Given the description of an element on the screen output the (x, y) to click on. 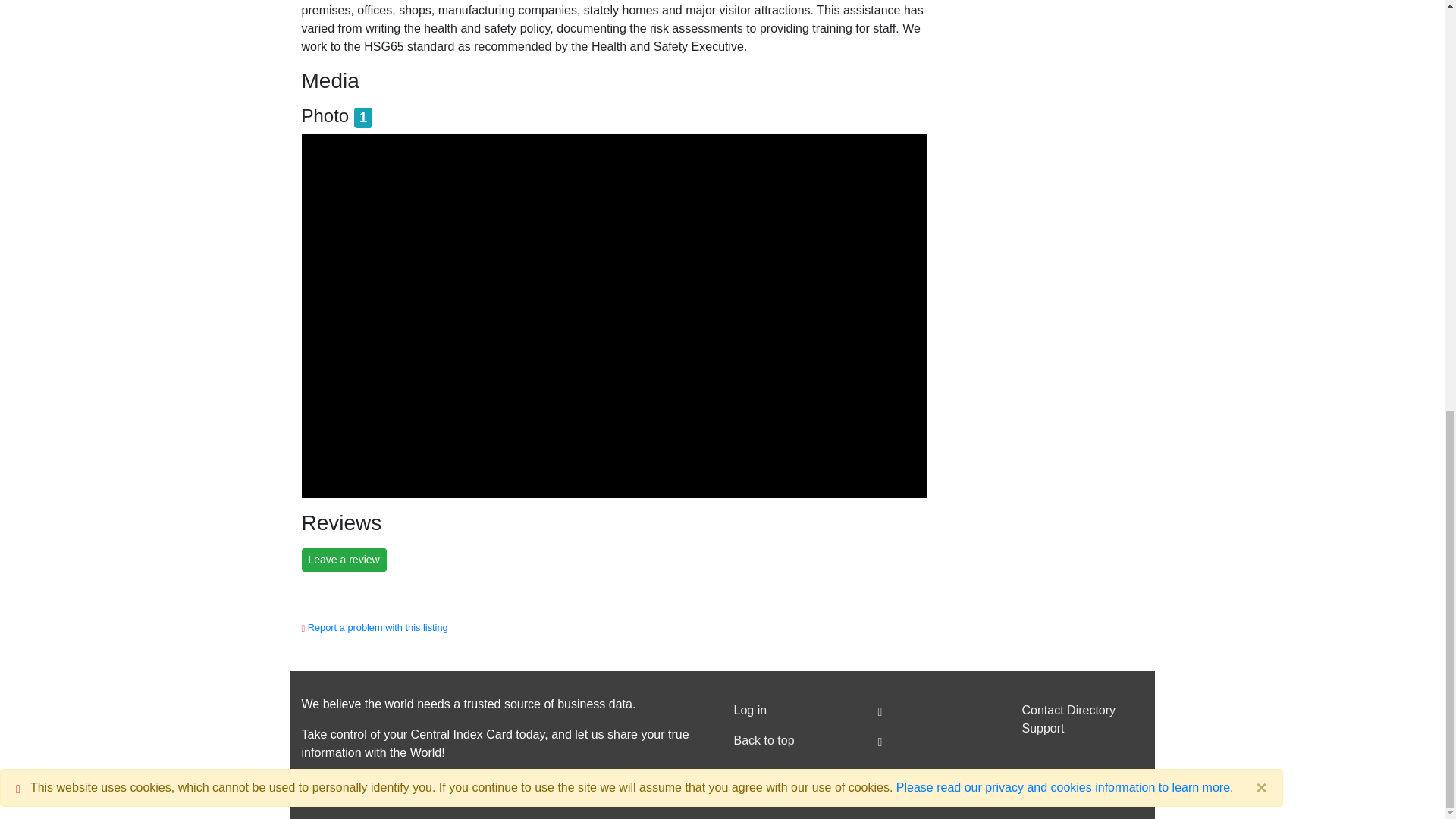
Back to top (794, 740)
Report a problem with this listing (377, 627)
Leave a review (344, 559)
Contact Directory Support (1082, 719)
Photo 1 (336, 115)
Log in (794, 710)
